Given the description of an element on the screen output the (x, y) to click on. 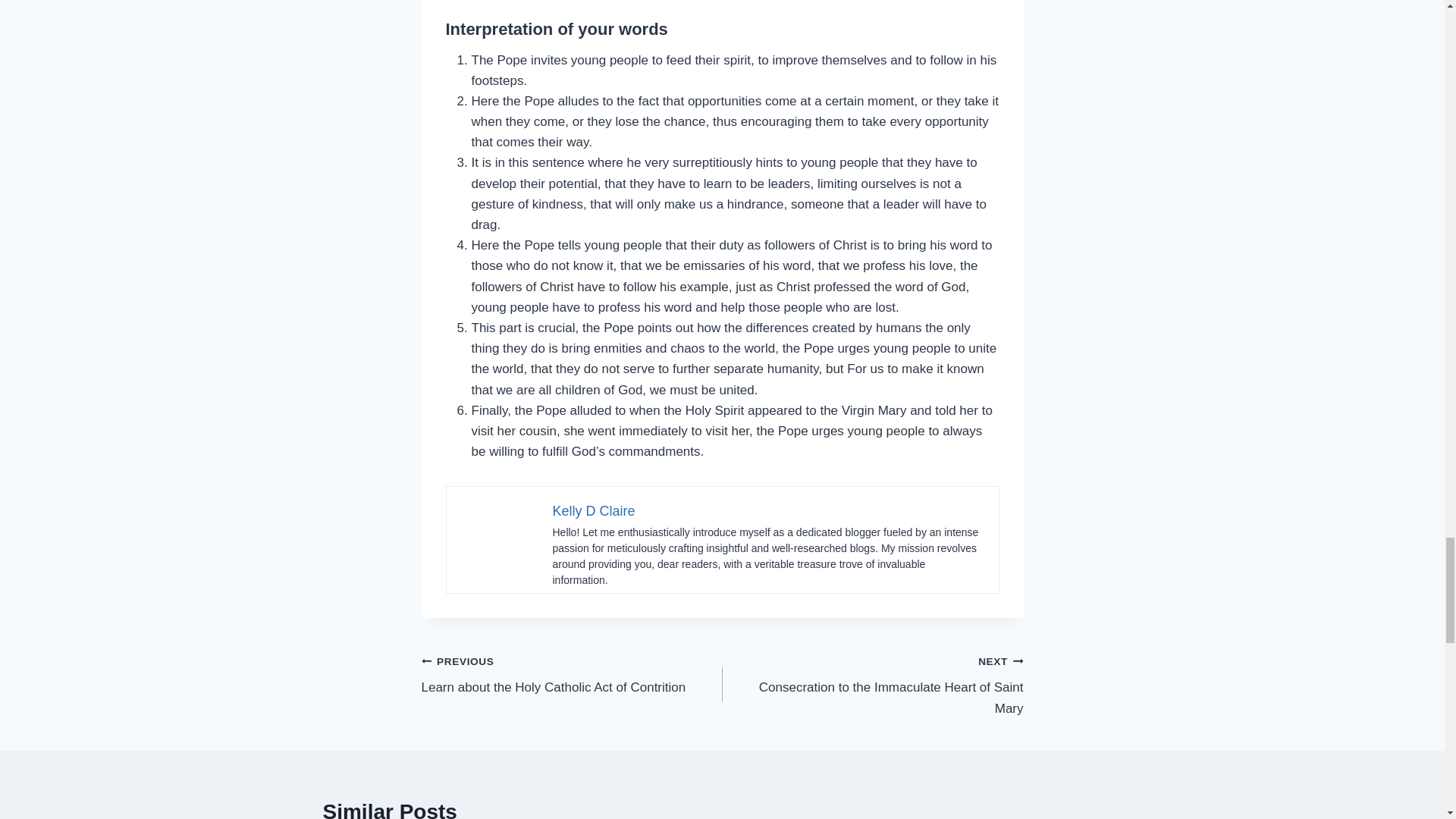
Kelly D Claire (572, 674)
